Given the description of an element on the screen output the (x, y) to click on. 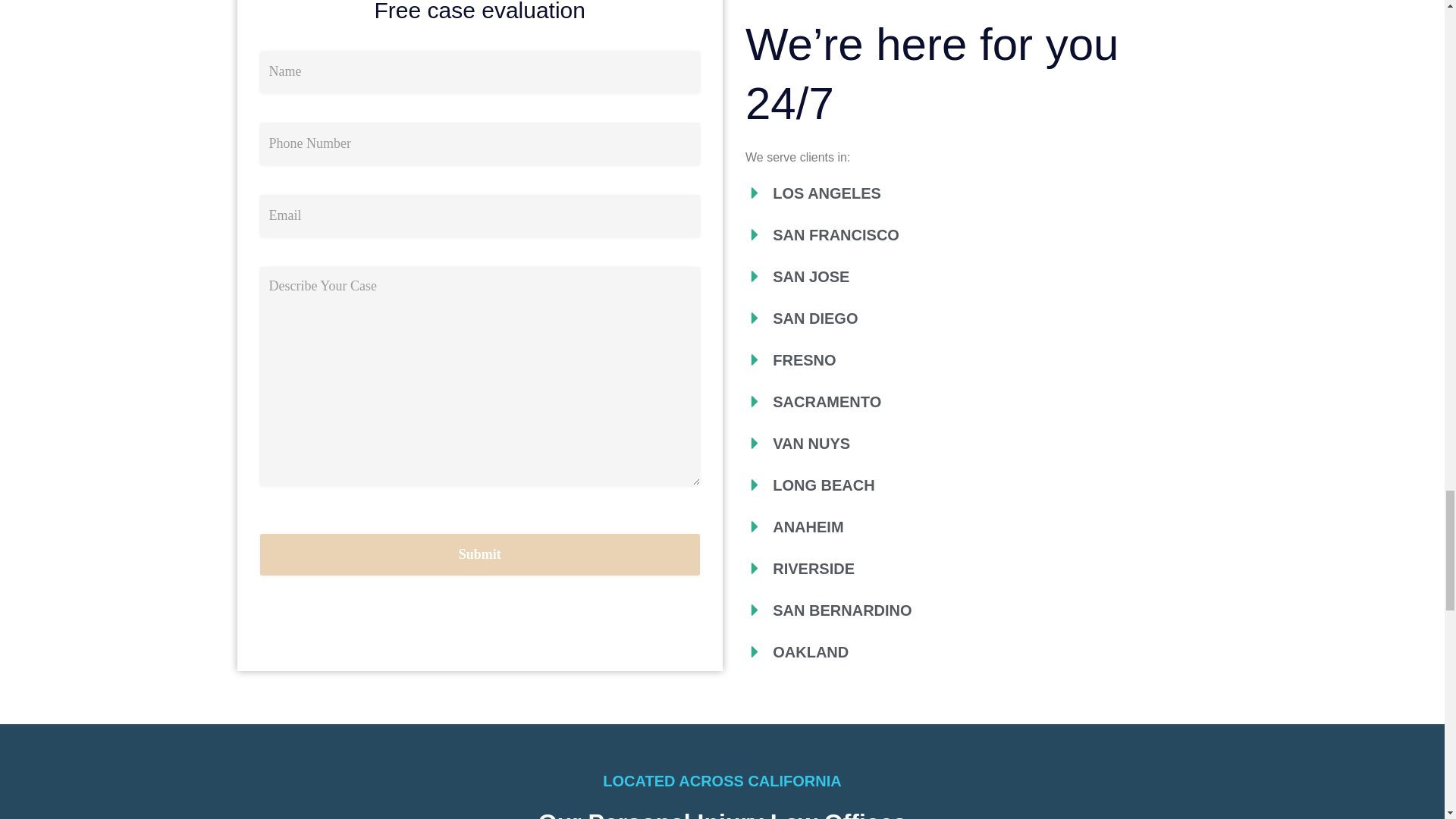
Submit (478, 554)
